Given the description of an element on the screen output the (x, y) to click on. 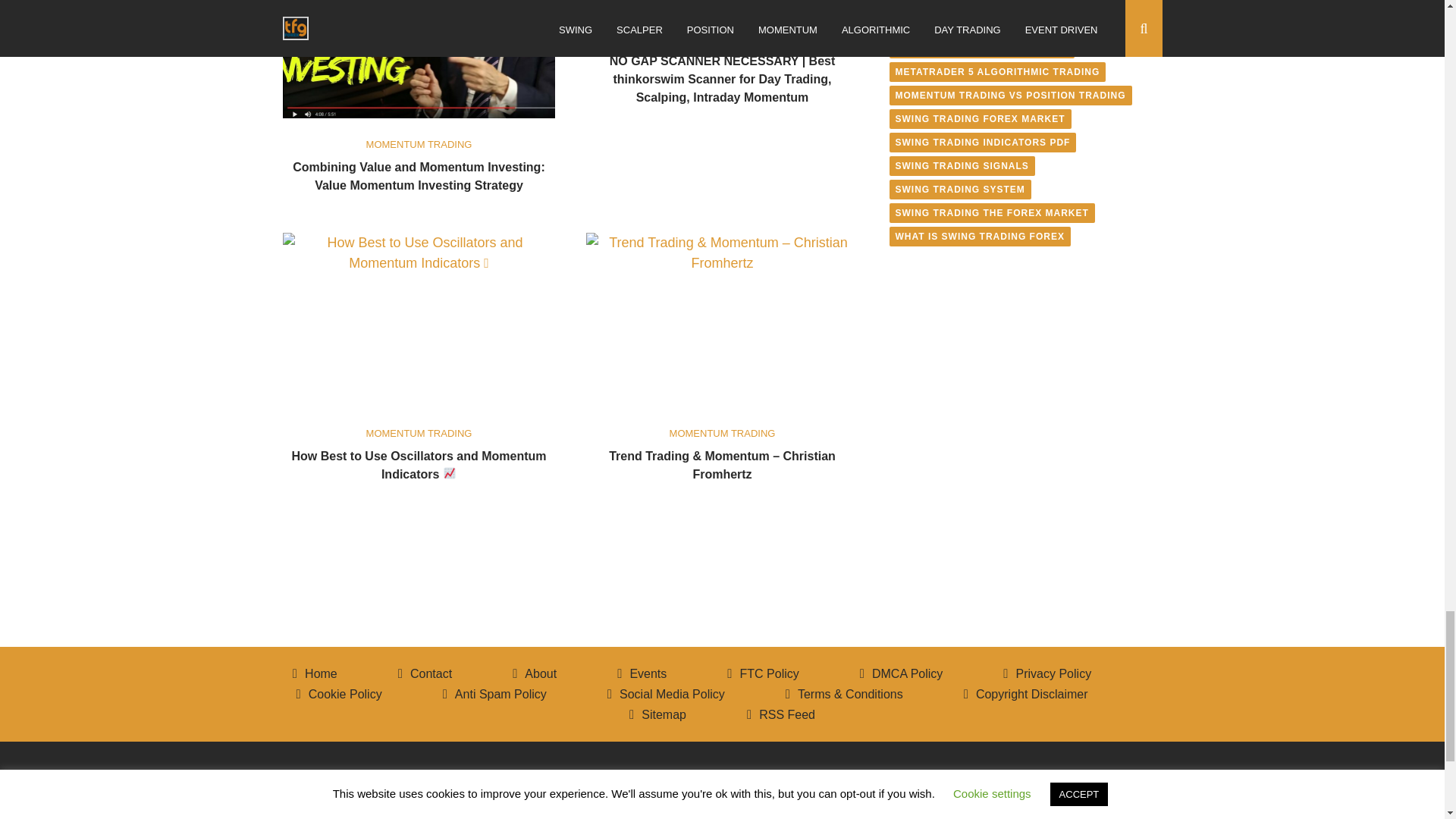
MOMENTUM TRADING (722, 38)
MOMENTUM TRADING (418, 143)
MOMENTUM TRADING (418, 432)
